Given the description of an element on the screen output the (x, y) to click on. 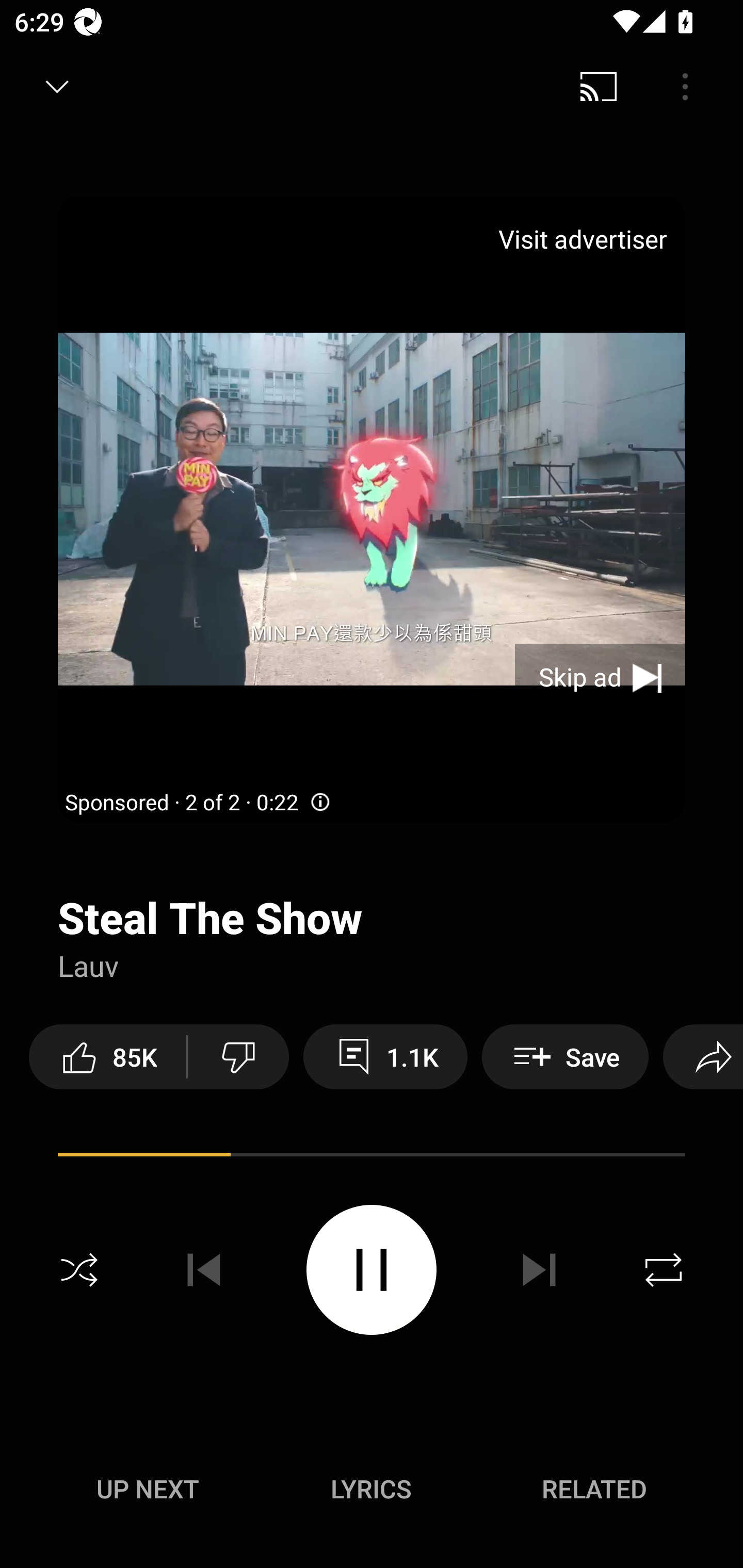
Minimize (57, 86)
Cast. Disconnected (598, 86)
Menu (684, 86)
Skip ad (599, 678)
Sponsored · 2 of 2 · 0:22 (198, 802)
85K like this video along with 85,778 other people (106, 1056)
Dislike (238, 1056)
1.1K View 1,180 comments (385, 1056)
Save Save to playlist (565, 1056)
Share (702, 1056)
Pause video (371, 1269)
Shuffle off (79, 1269)
Previous track disabled (203, 1269)
Next track disabled (538, 1269)
Repeat off (663, 1269)
Up next UP NEXT Lyrics LYRICS Related RELATED (371, 1491)
Lyrics LYRICS (370, 1488)
Related RELATED (594, 1488)
